Given the description of an element on the screen output the (x, y) to click on. 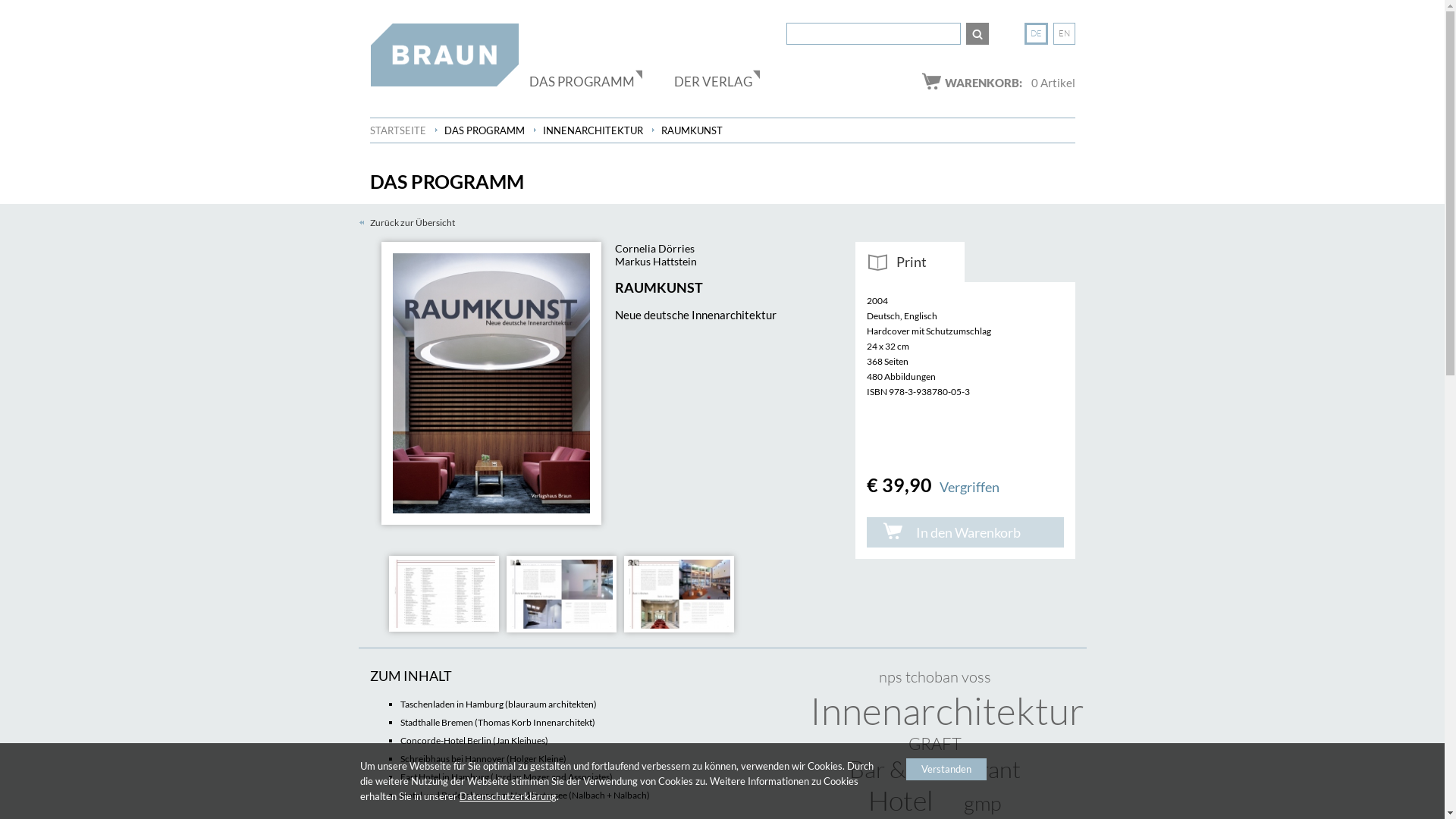
In den Warenkorb Element type: text (964, 532)
STARTSEITE Element type: text (398, 130)
GRAFT Element type: text (934, 743)
RAUMKUNST Element type: text (691, 130)
DE Element type: text (1036, 33)
Homepage Element type: hover (444, 54)
DER VERLAG Element type: text (716, 77)
Print Element type: text (909, 261)
WARENKORB: Element type: text (972, 80)
INNENARCHITEKTUR Element type: text (592, 130)
Hotel Element type: text (900, 799)
Verstanden Element type: text (946, 769)
nps tchoban voss Element type: text (933, 676)
Bar & Restaurant Element type: text (934, 768)
gmp Element type: text (982, 802)
0 Artikel Element type: text (1053, 82)
Innenarchitektur Element type: text (946, 710)
EN Element type: text (1064, 33)
DAS PROGRAMM Element type: text (484, 130)
DAS PROGRAMM Element type: text (585, 77)
